Given the description of an element on the screen output the (x, y) to click on. 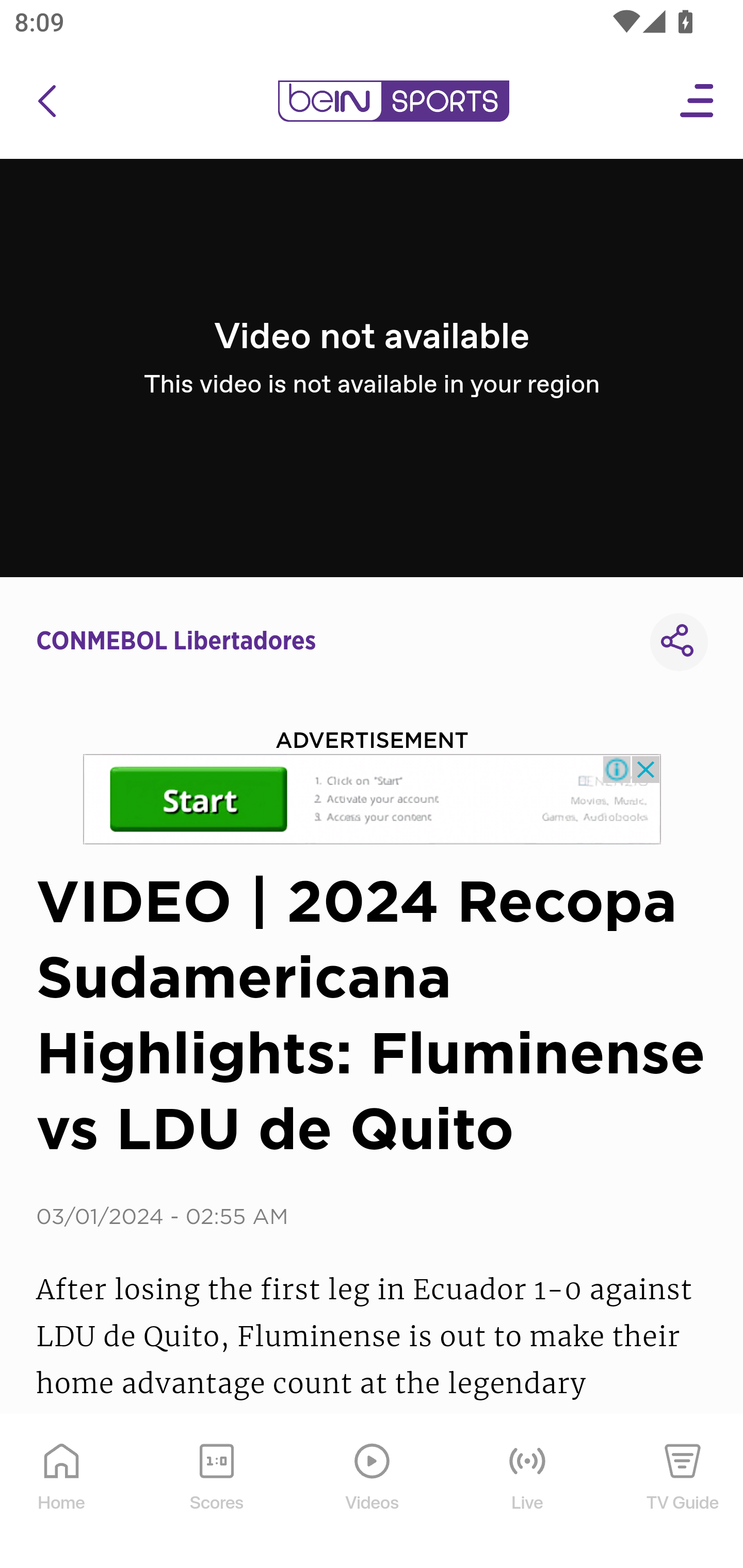
en-us?platform=mobile_android bein logo (392, 101)
icon back (46, 101)
Open Menu Icon (697, 101)
Home Home Icon Home (61, 1491)
Scores Scores Icon Scores (216, 1491)
Videos Videos Icon Videos (372, 1491)
TV Guide TV Guide Icon TV Guide (682, 1491)
